Given the description of an element on the screen output the (x, y) to click on. 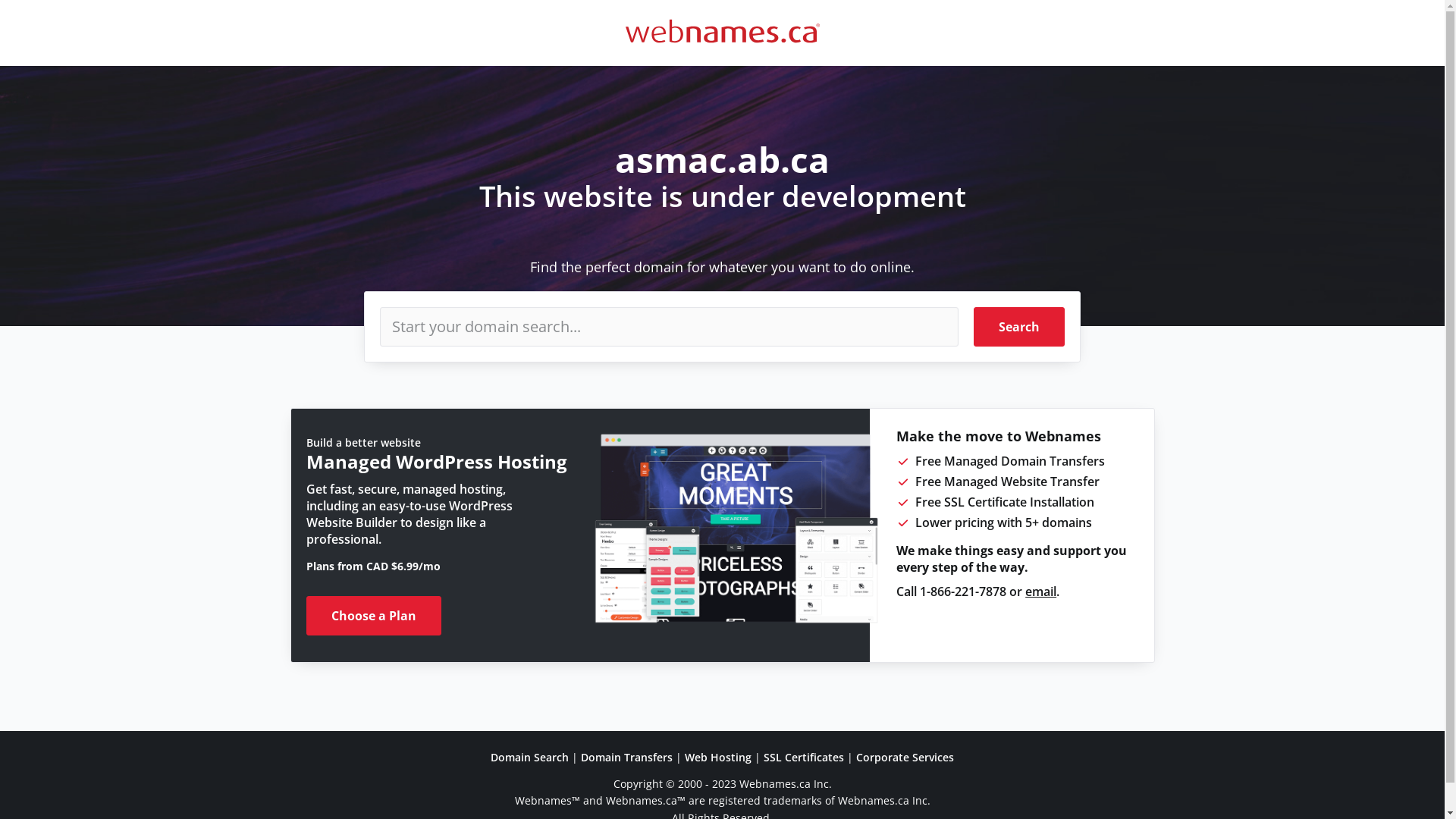
Corporate Services Element type: text (904, 756)
1-866-221-7878 Element type: text (962, 591)
email Element type: text (1040, 591)
Domain Search Element type: text (529, 756)
Domain Transfers Element type: text (626, 756)
Search Element type: text (1018, 326)
Choose a Plan Element type: text (373, 615)
SSL Certificates Element type: text (803, 756)
Web Hosting Element type: text (717, 756)
